Given the description of an element on the screen output the (x, y) to click on. 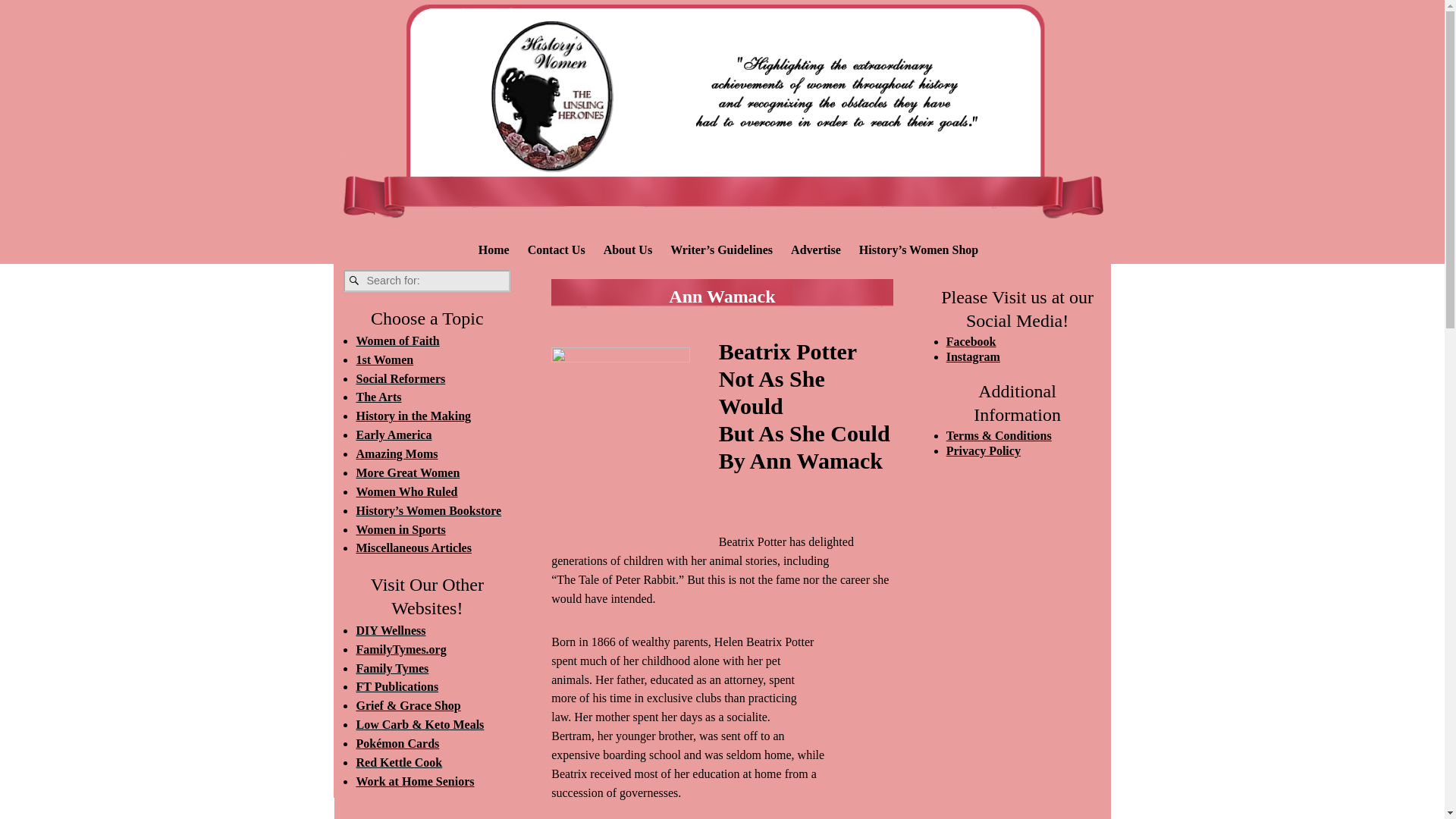
Facebook (970, 341)
Miscellaneous Articles (412, 547)
DIY Wellness (390, 630)
Social Reformers (400, 378)
Family Tymes (391, 667)
Advertise (815, 250)
FT Publications (396, 686)
1st Women (384, 359)
More Great Women (407, 472)
FamilyTymes.org (400, 649)
